Given the description of an element on the screen output the (x, y) to click on. 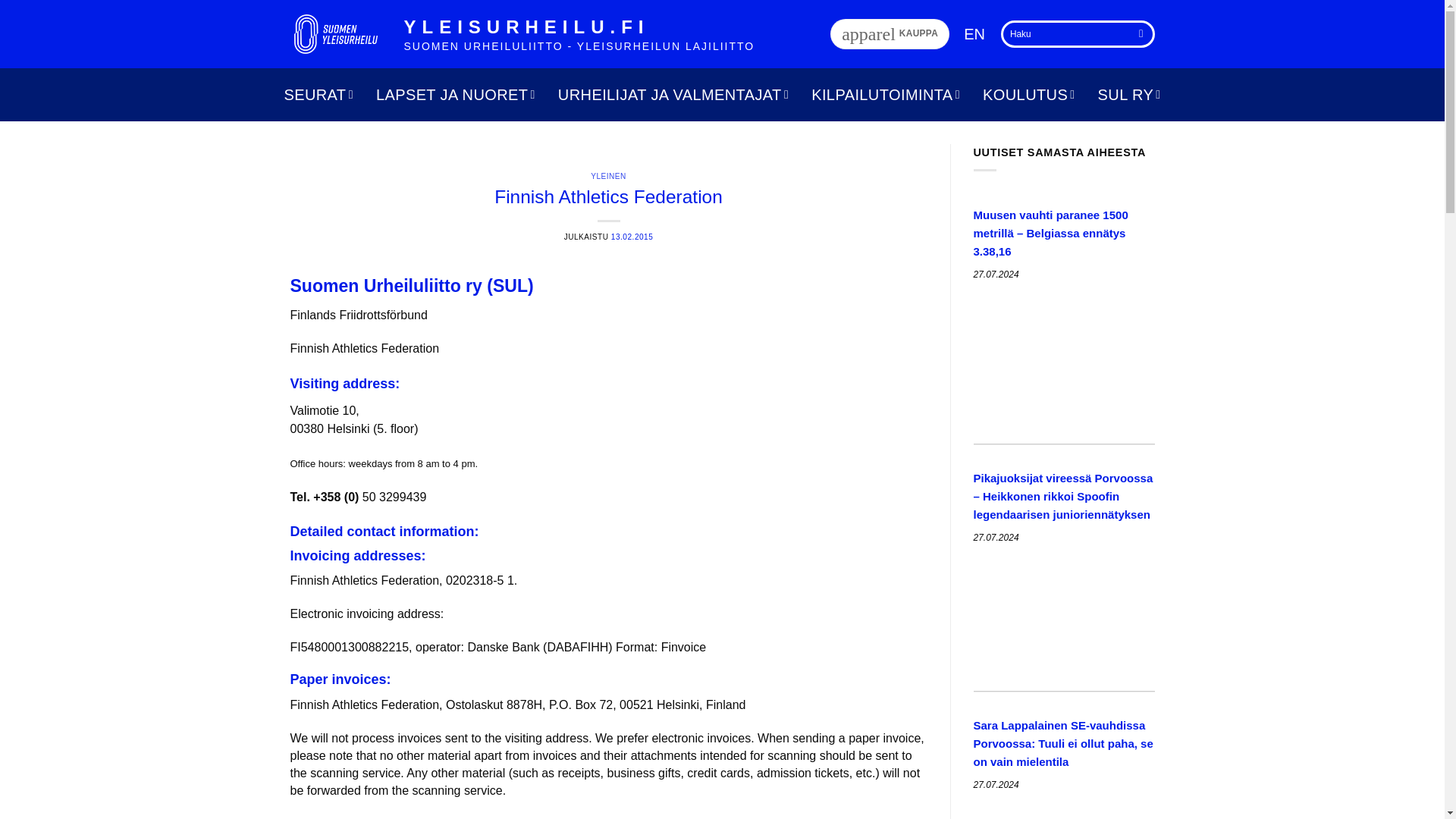
LAPSET JA NUORET (889, 33)
EN (455, 93)
URHEILIJAT JA VALMENTAJAT (974, 32)
SEURAT (673, 93)
